Given the description of an element on the screen output the (x, y) to click on. 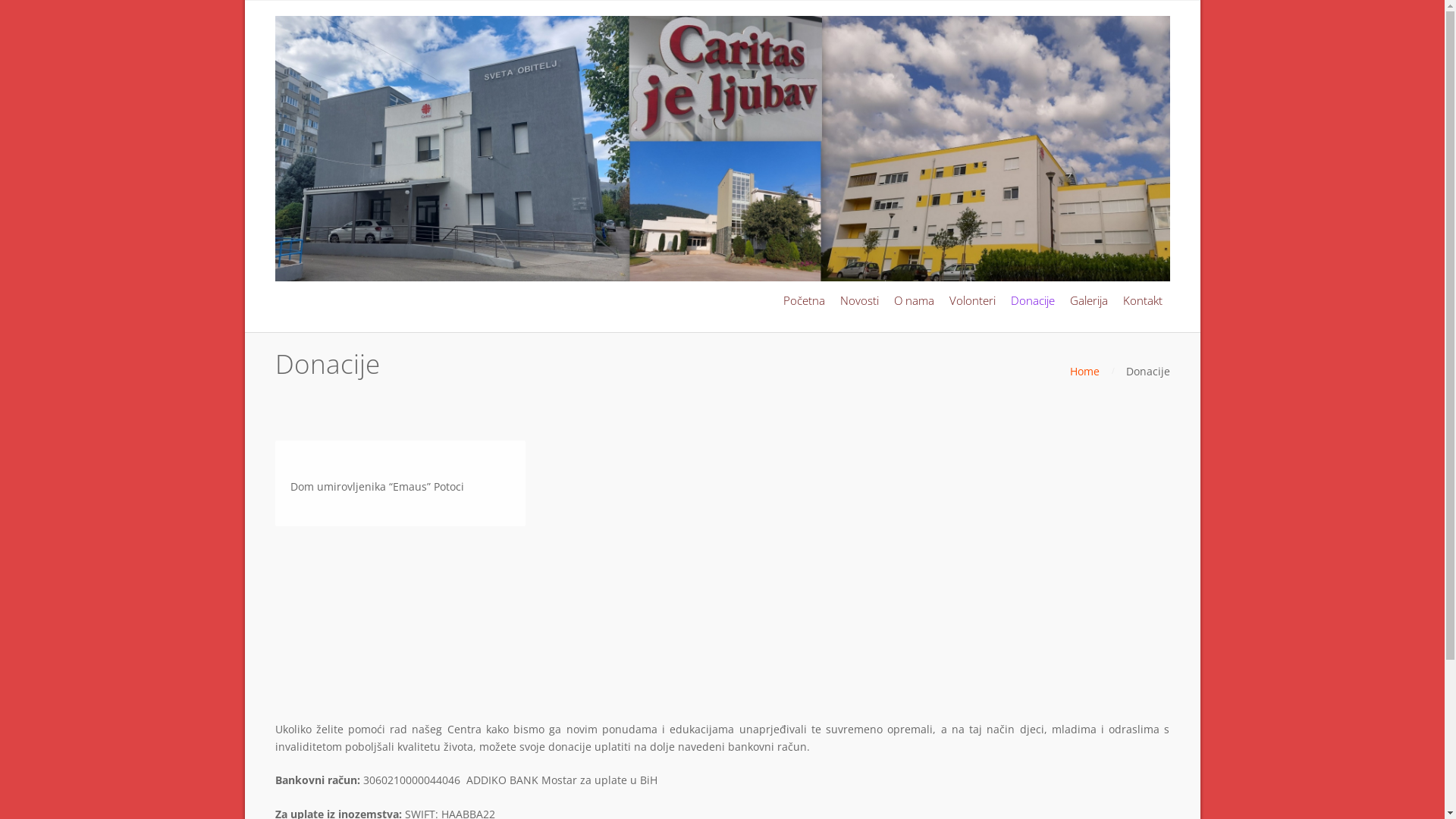
Donacije Element type: text (1031, 300)
Volonteri Element type: text (972, 300)
O nama Element type: text (913, 300)
Kontakt Element type: text (1141, 300)
Home Element type: text (1083, 371)
Galerija Element type: text (1087, 300)
Novosti Element type: text (859, 300)
